Given the description of an element on the screen output the (x, y) to click on. 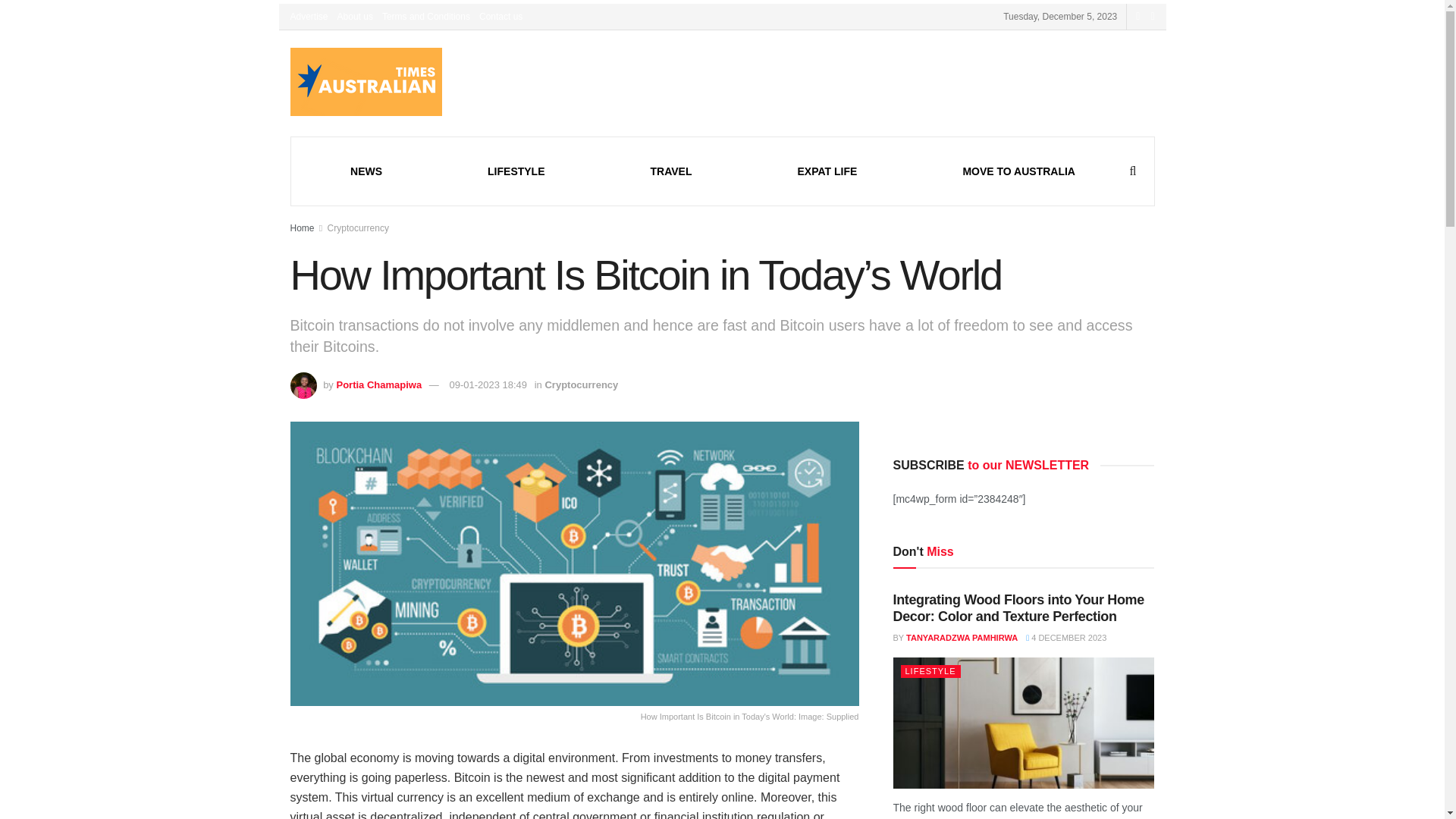
EXPAT LIFE (827, 170)
About us (354, 16)
Advertise (308, 16)
NEWS (365, 170)
LIFESTYLE (515, 170)
UK Life (827, 170)
Terms and Conditions (425, 16)
MOVE TO AUSTRALIA (1018, 170)
Contact us (500, 16)
